Given the description of an element on the screen output the (x, y) to click on. 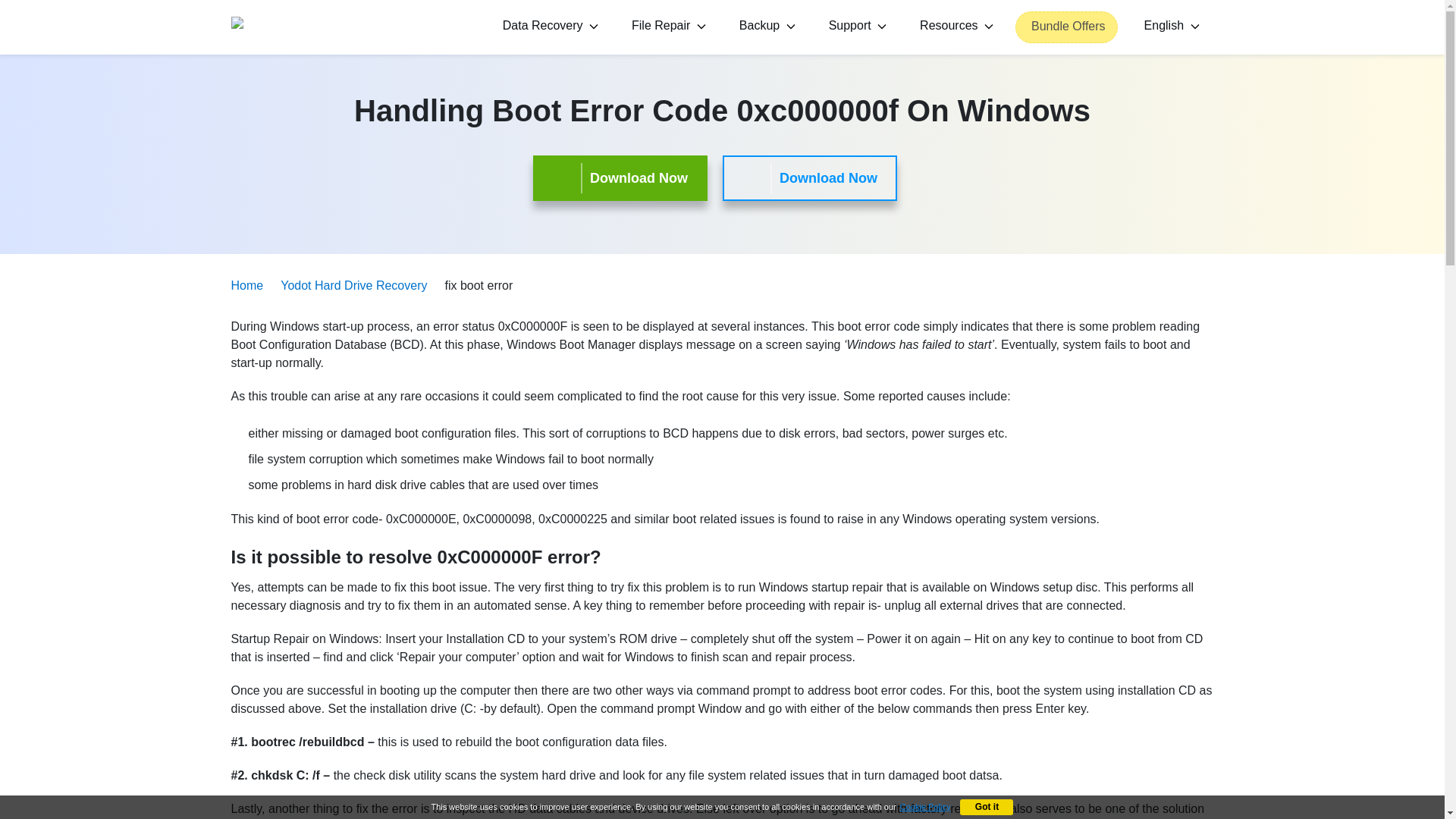
Resources (954, 26)
Backup (764, 26)
File Repair (665, 26)
Data Recovery (547, 26)
Bundle Offers (1066, 27)
Support (854, 26)
